Given the description of an element on the screen output the (x, y) to click on. 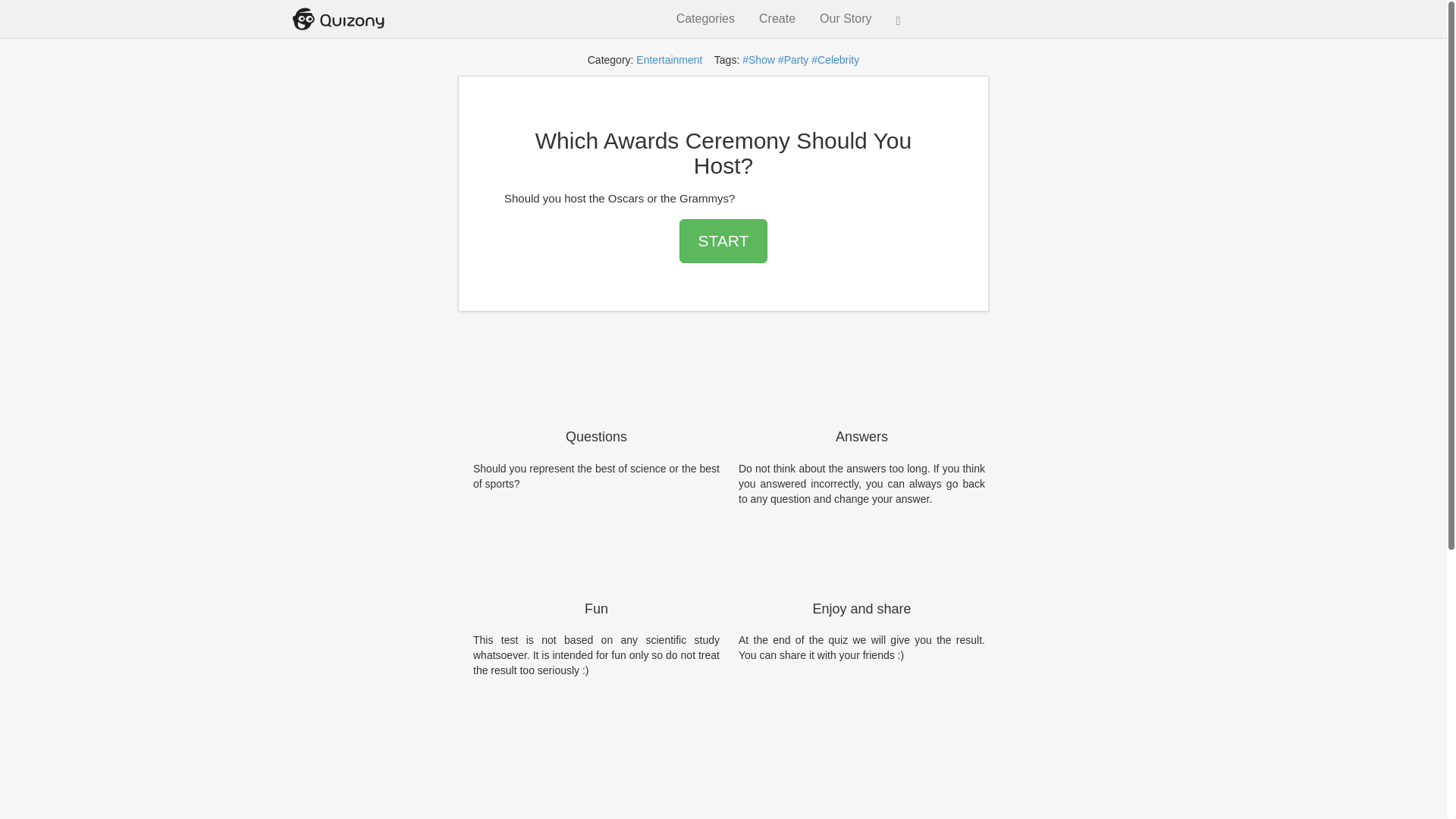
Categories (706, 18)
START (723, 240)
Our Story (844, 18)
Entertainment (668, 60)
Create (776, 18)
